Given the description of an element on the screen output the (x, y) to click on. 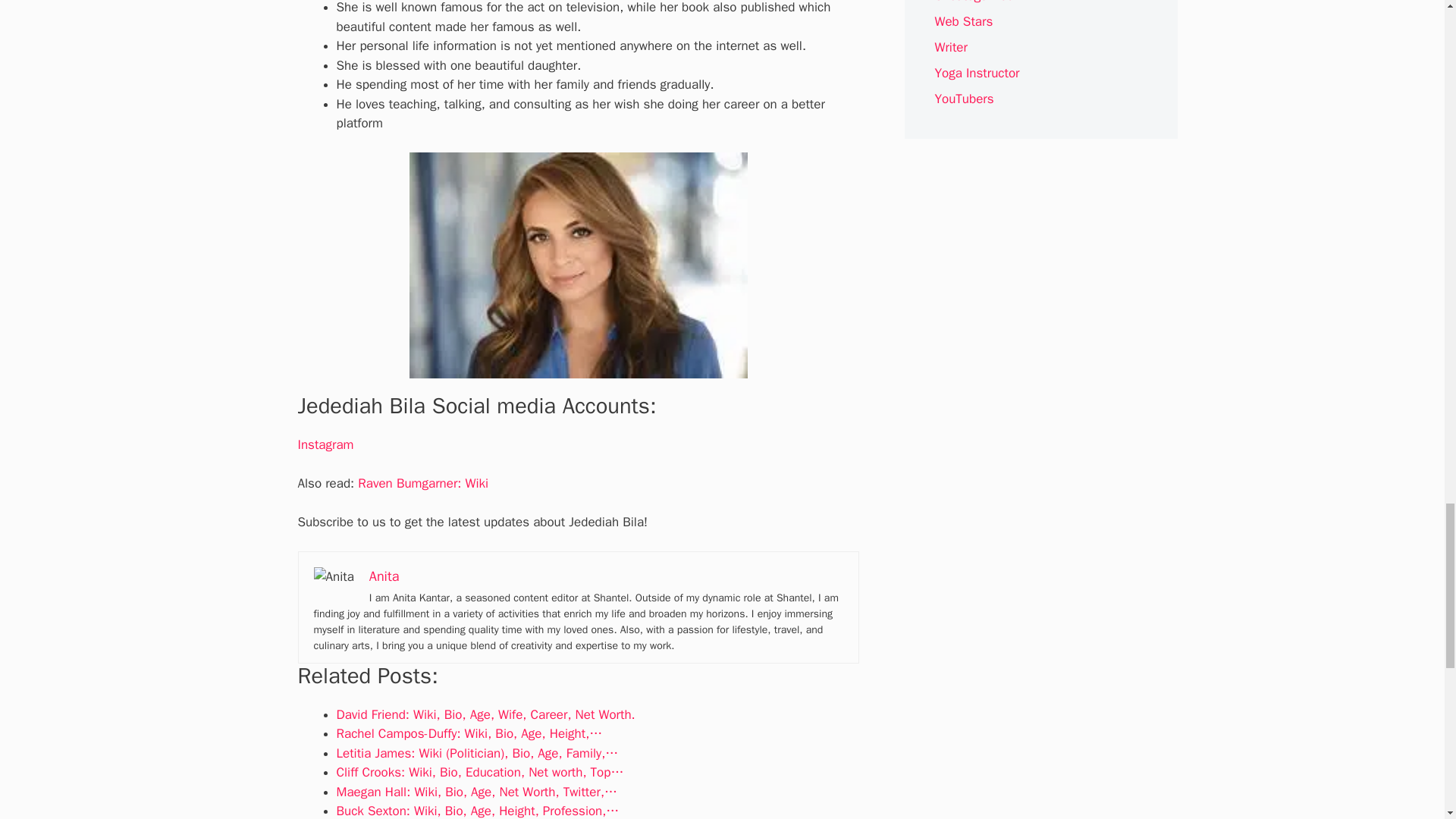
David Friend: Wiki, Bio, Age, Wife, Career, Net Worth. (485, 714)
Raven Bumgarner: Wiki (422, 483)
Instagram (325, 444)
Anita (383, 576)
